Given the description of an element on the screen output the (x, y) to click on. 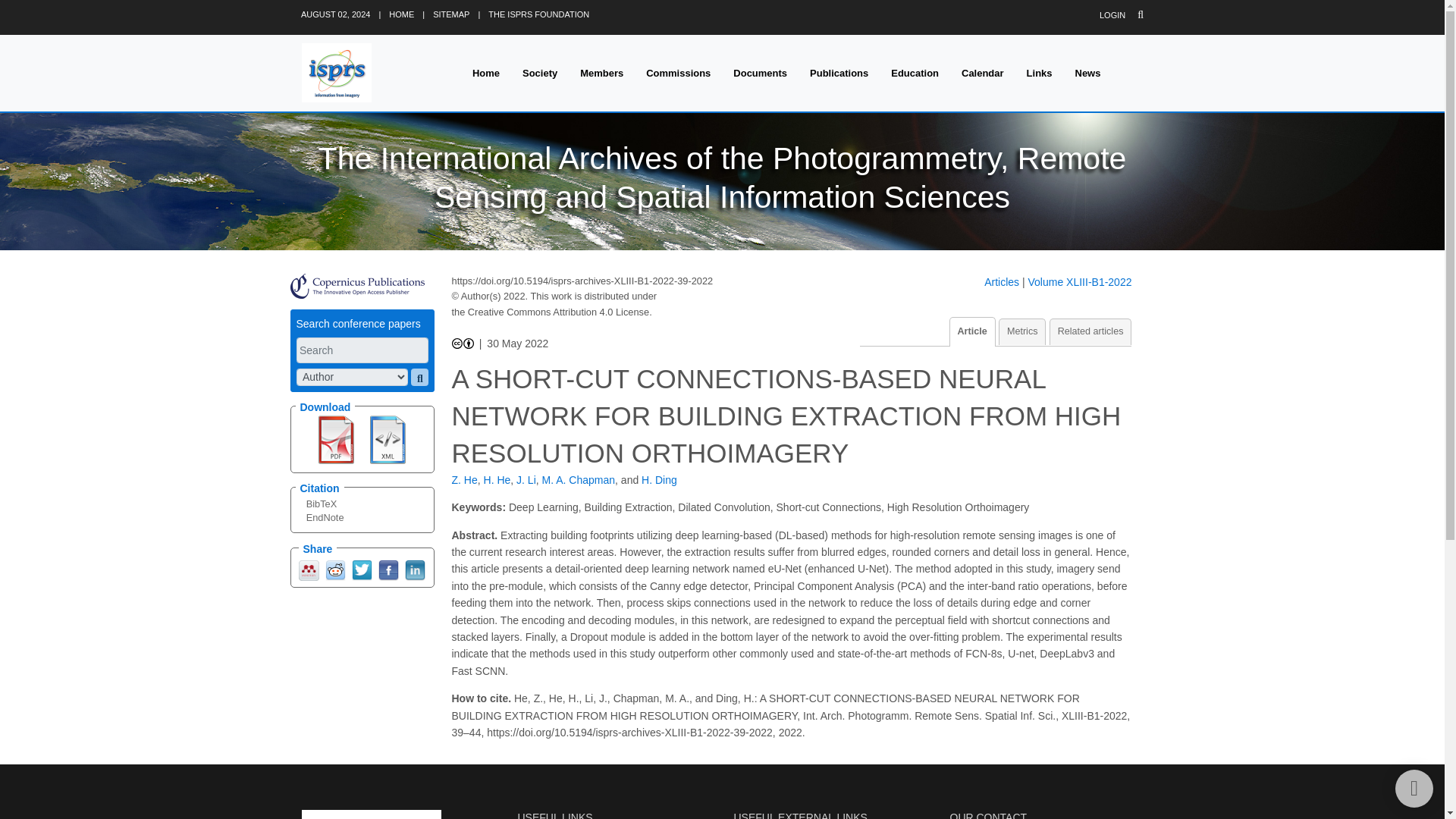
Home (485, 73)
Society (539, 73)
SITEMAP (450, 13)
THE ISPRS FOUNDATION (538, 13)
HOME (400, 13)
LOGIN (1112, 14)
